Given the description of an element on the screen output the (x, y) to click on. 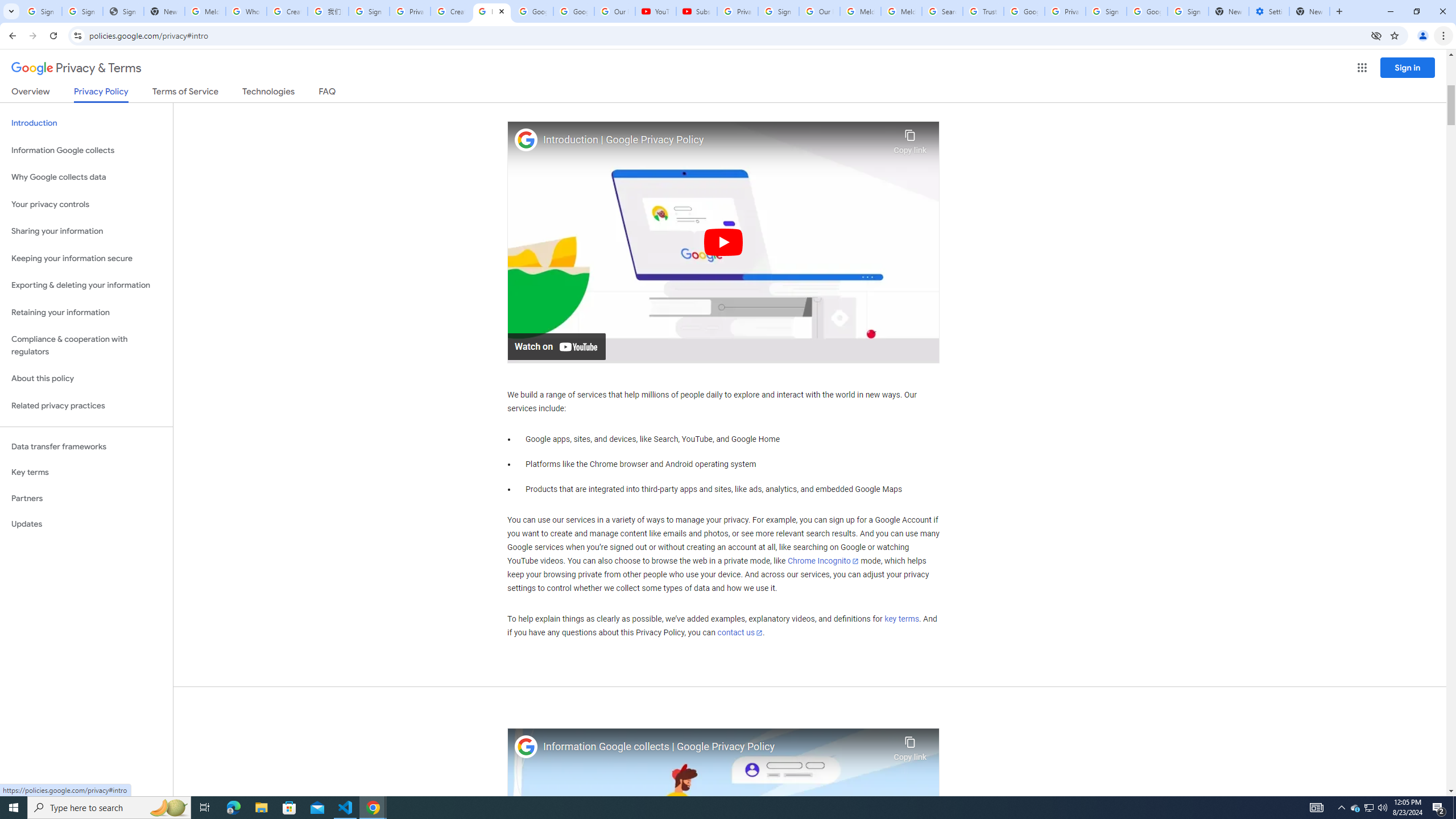
Photo image of Google (526, 746)
Related privacy practices (86, 405)
Retaining your information (86, 312)
Settings - Addresses and more (1268, 11)
Google Cybersecurity Innovations - Google Safety Center (1146, 11)
Exporting & deleting your information (86, 284)
contact us (739, 633)
Who is my administrator? - Google Account Help (246, 11)
